Given the description of an element on the screen output the (x, y) to click on. 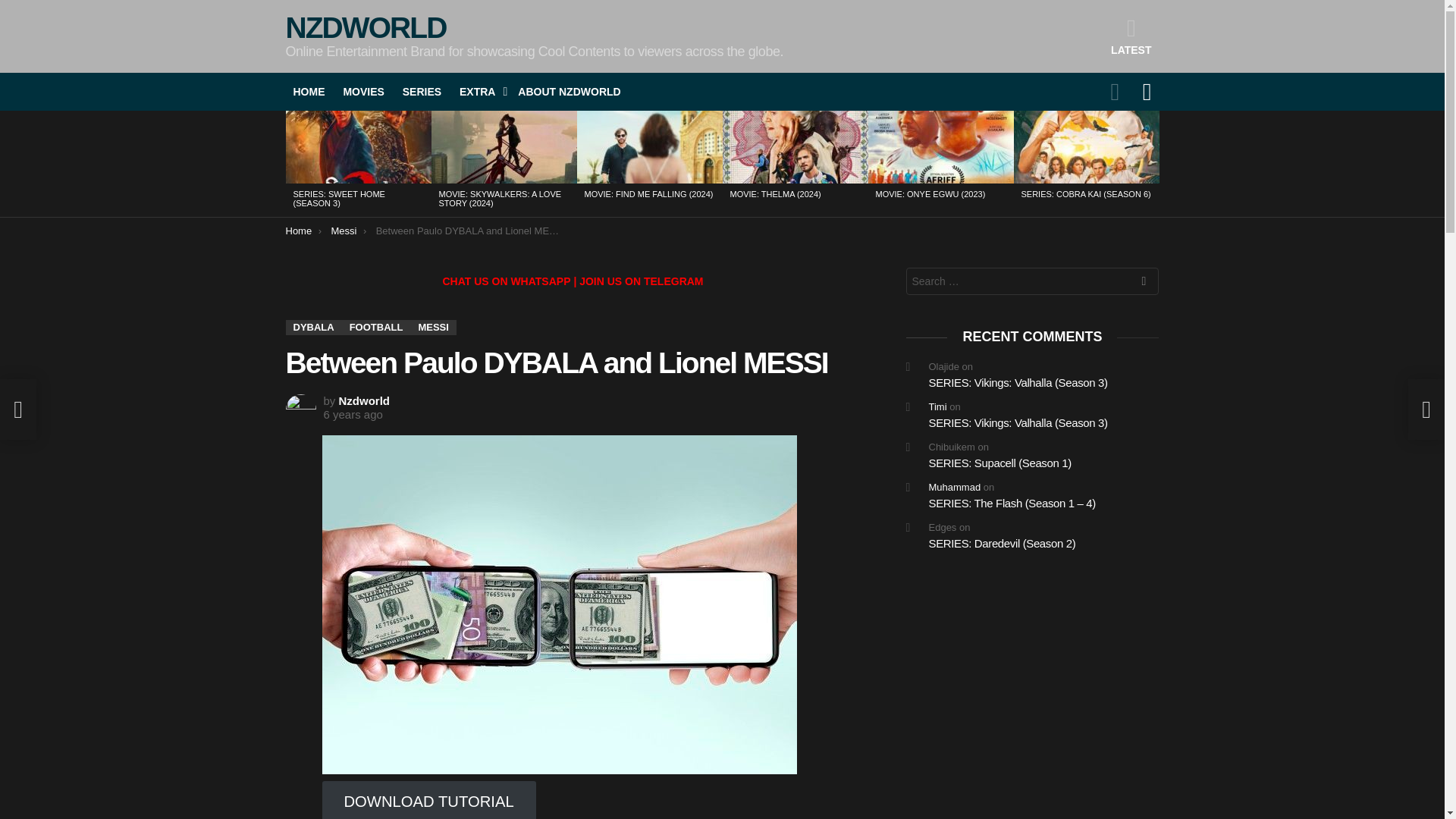
Posts by Nzdworld (364, 400)
SERIES (421, 91)
Home (298, 230)
LATEST (1130, 35)
DYBALA (312, 327)
ABOUT NZDWORLD (569, 91)
MOVIES (362, 91)
NZDWORLD (365, 27)
Messi (343, 230)
EXTRA (478, 91)
CHAT US ON WHATSAPP (506, 281)
HOME (308, 91)
JOIN US ON TELEGRAM (641, 281)
November 16, 2018, 9:05 am (352, 414)
